Given the description of an element on the screen output the (x, y) to click on. 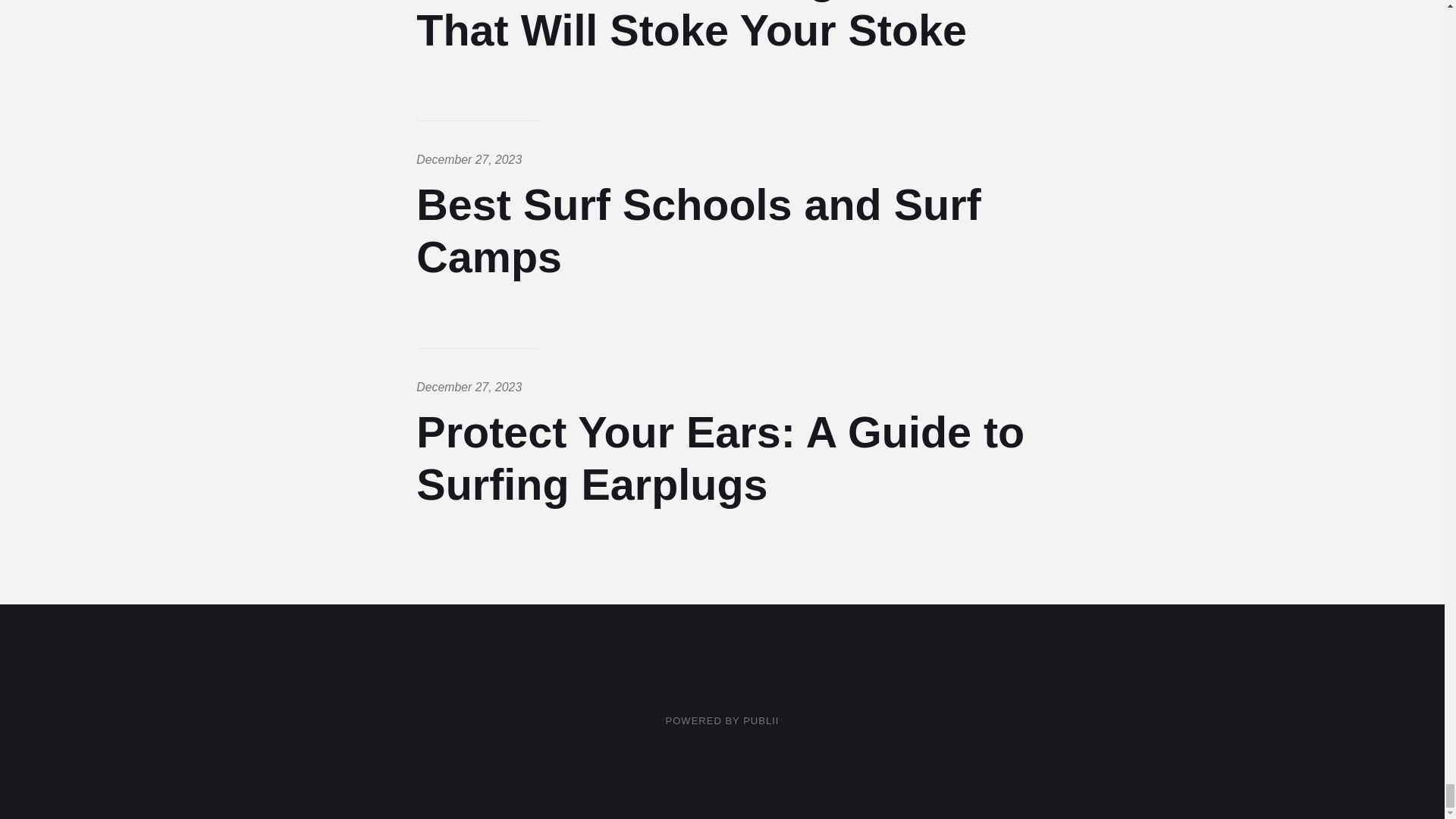
Best Surf Schools and Surf Camps (697, 230)
10 Must-See Surfing Movies That Will Stoke Your Stoke (705, 27)
Protect Your Ears: A Guide to Surfing Earplugs (720, 457)
